Given the description of an element on the screen output the (x, y) to click on. 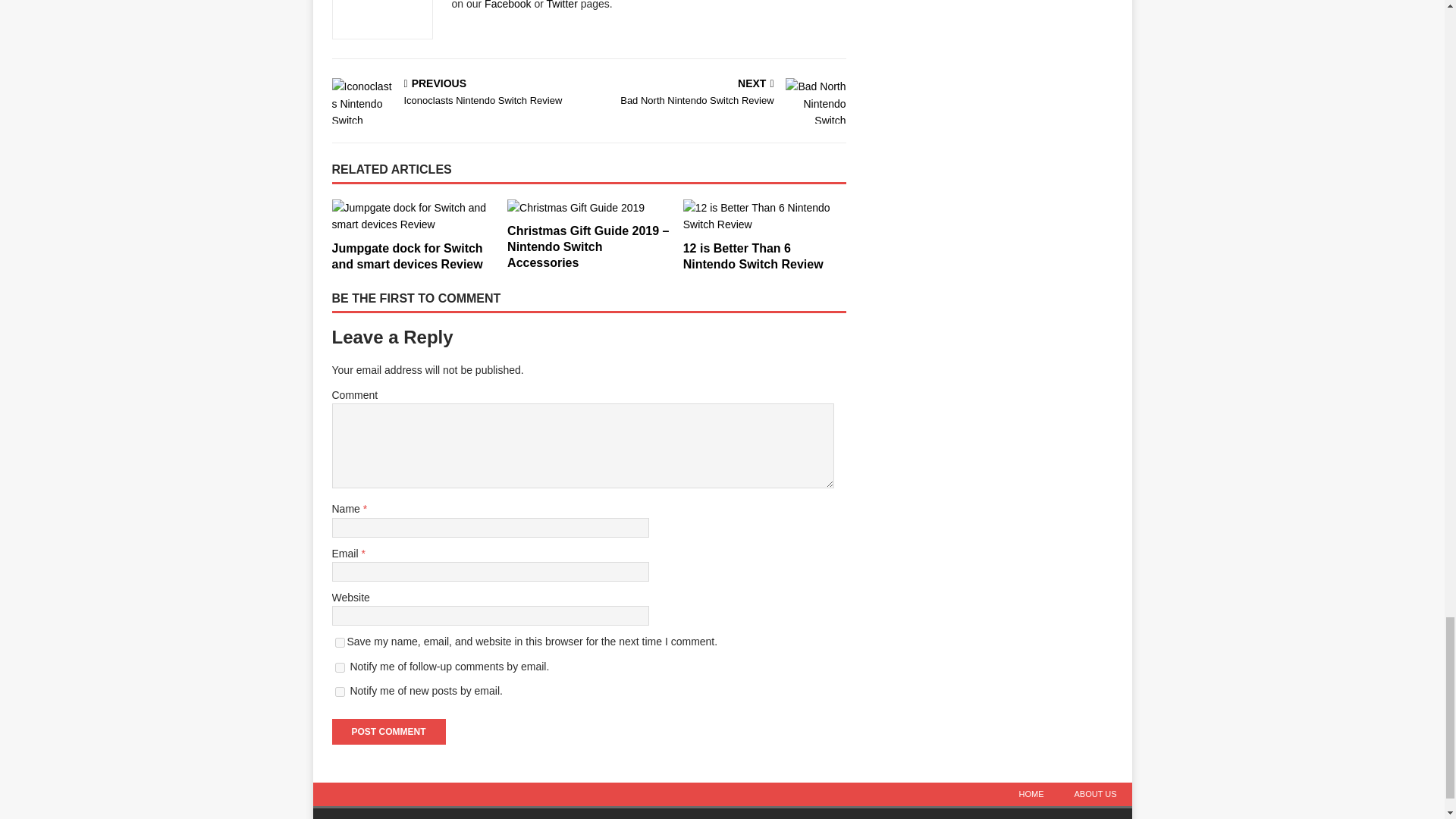
subscribe (339, 667)
Post Comment (388, 731)
subscribe (339, 691)
yes (339, 642)
